Given the description of an element on the screen output the (x, y) to click on. 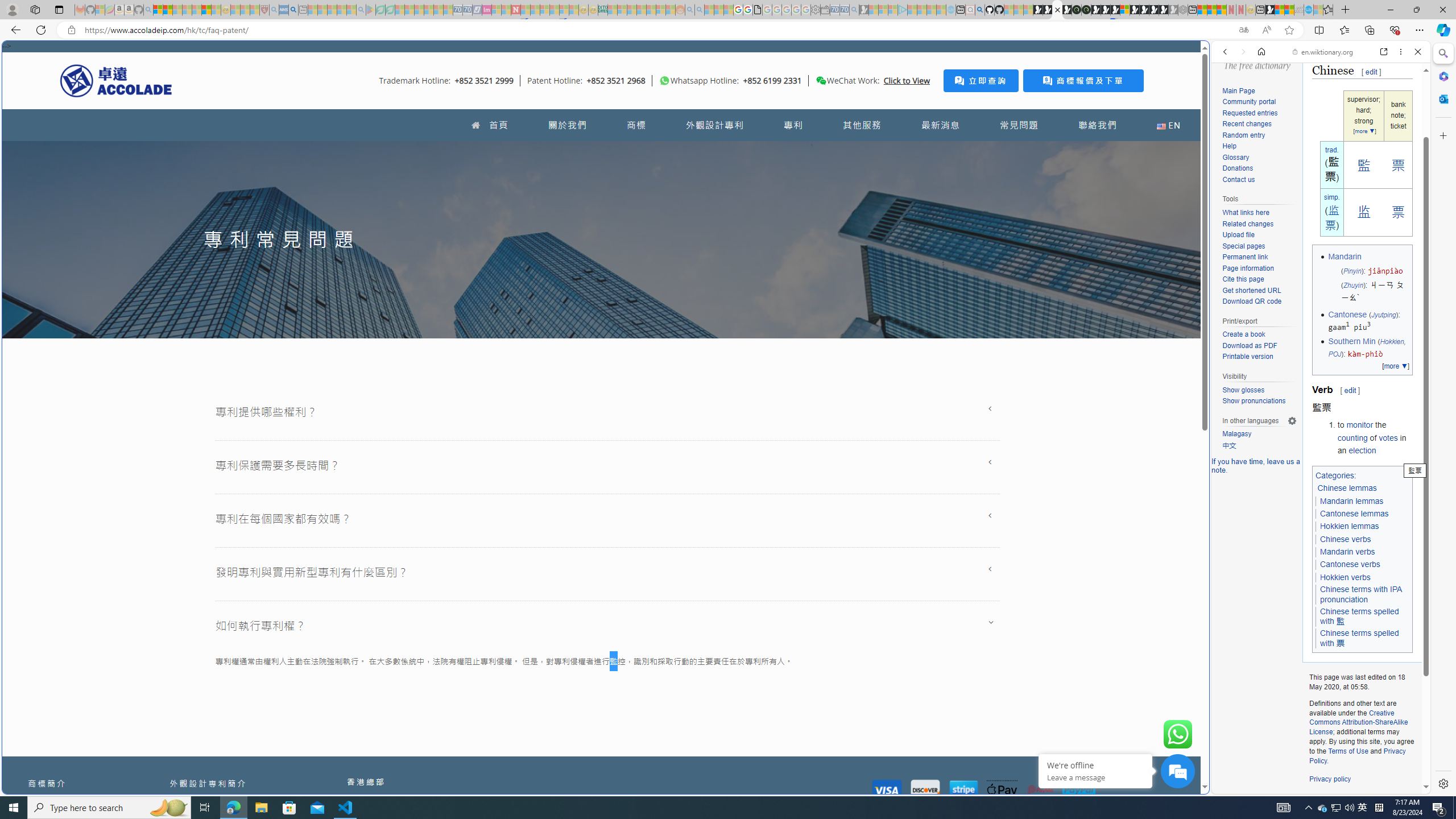
Disclaimers (1385, 799)
counting (1351, 437)
Download as PDF (1259, 345)
Chinese lemmas (1347, 488)
Show glosses (1243, 389)
